Given the description of an element on the screen output the (x, y) to click on. 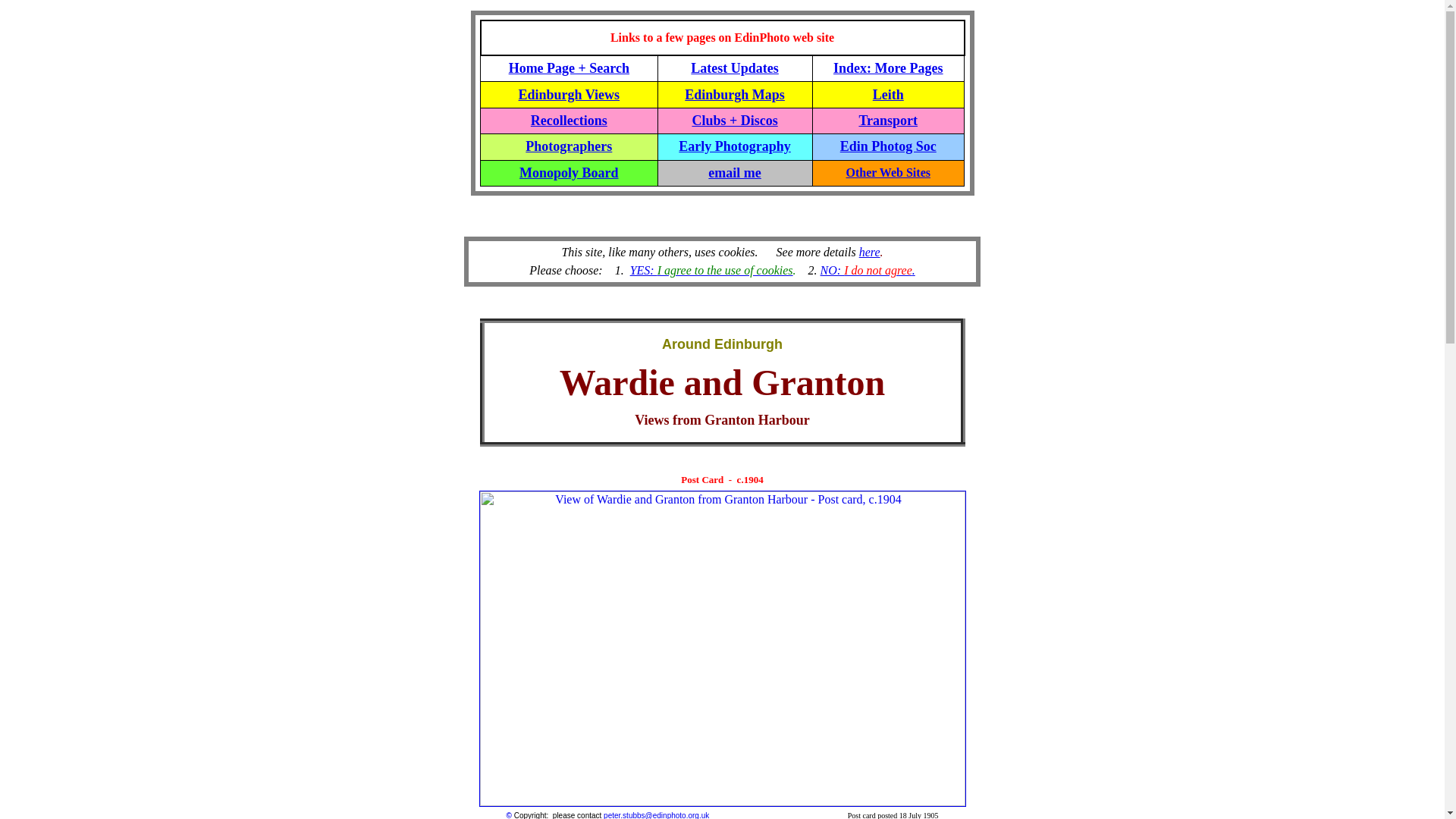
Other Web Sites (887, 172)
Transport (888, 120)
Leith (888, 94)
Recollections (569, 120)
here (869, 251)
Photographers (568, 145)
NO: I do not agree. (868, 269)
Edinburgh Maps (734, 94)
Edin Photog Soc (888, 145)
Latest Updates (734, 68)
